Given the description of an element on the screen output the (x, y) to click on. 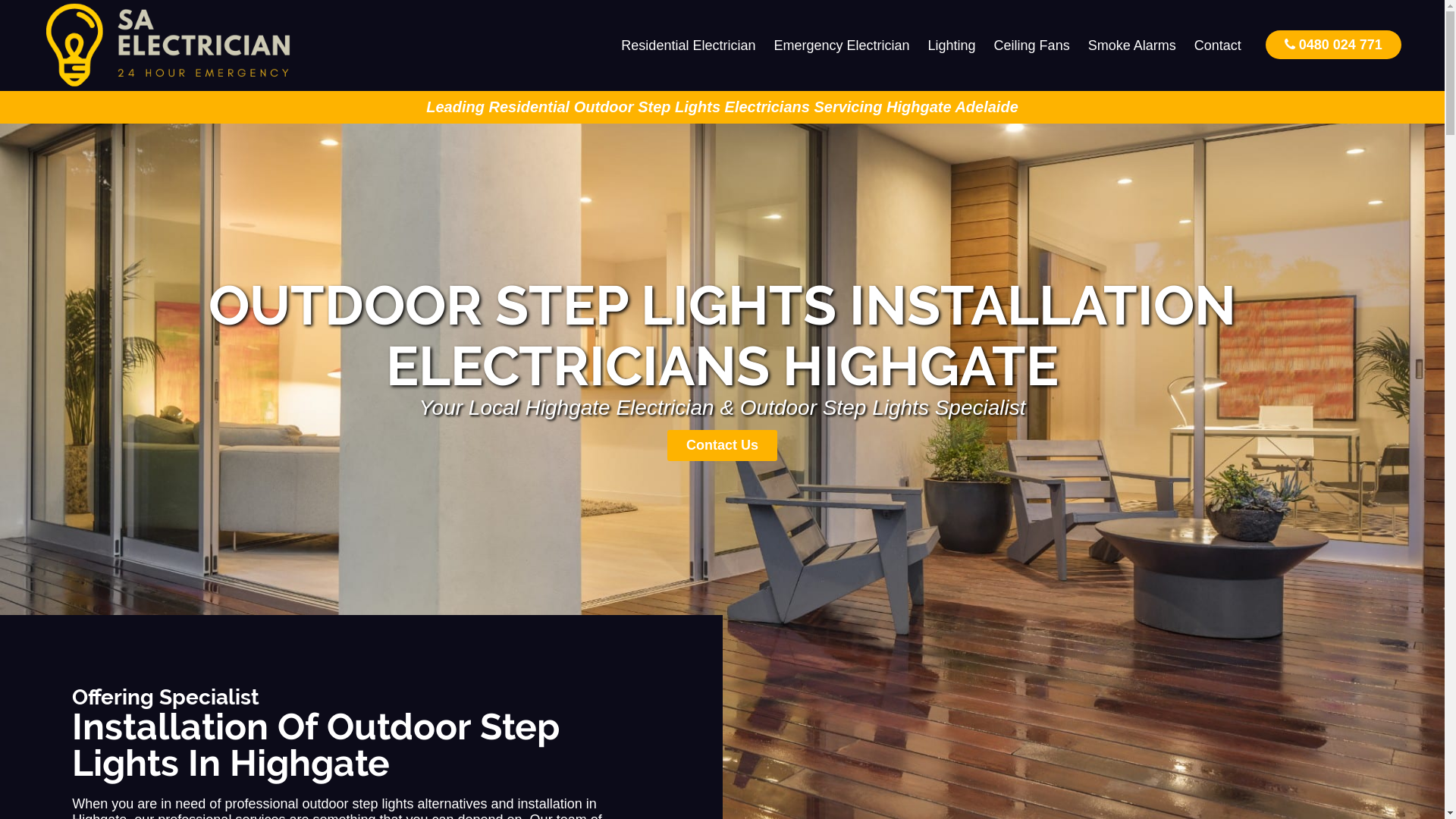
Ceiling Fans Element type: text (1032, 45)
Emergency Electrician Element type: text (841, 45)
Contact Element type: text (1217, 45)
Contact Us Element type: text (722, 445)
0480 024 771 Element type: text (1333, 44)
Residential Electrician Element type: text (687, 45)
Lighting Element type: text (952, 45)
Smoke Alarms Element type: text (1132, 45)
